Given the description of an element on the screen output the (x, y) to click on. 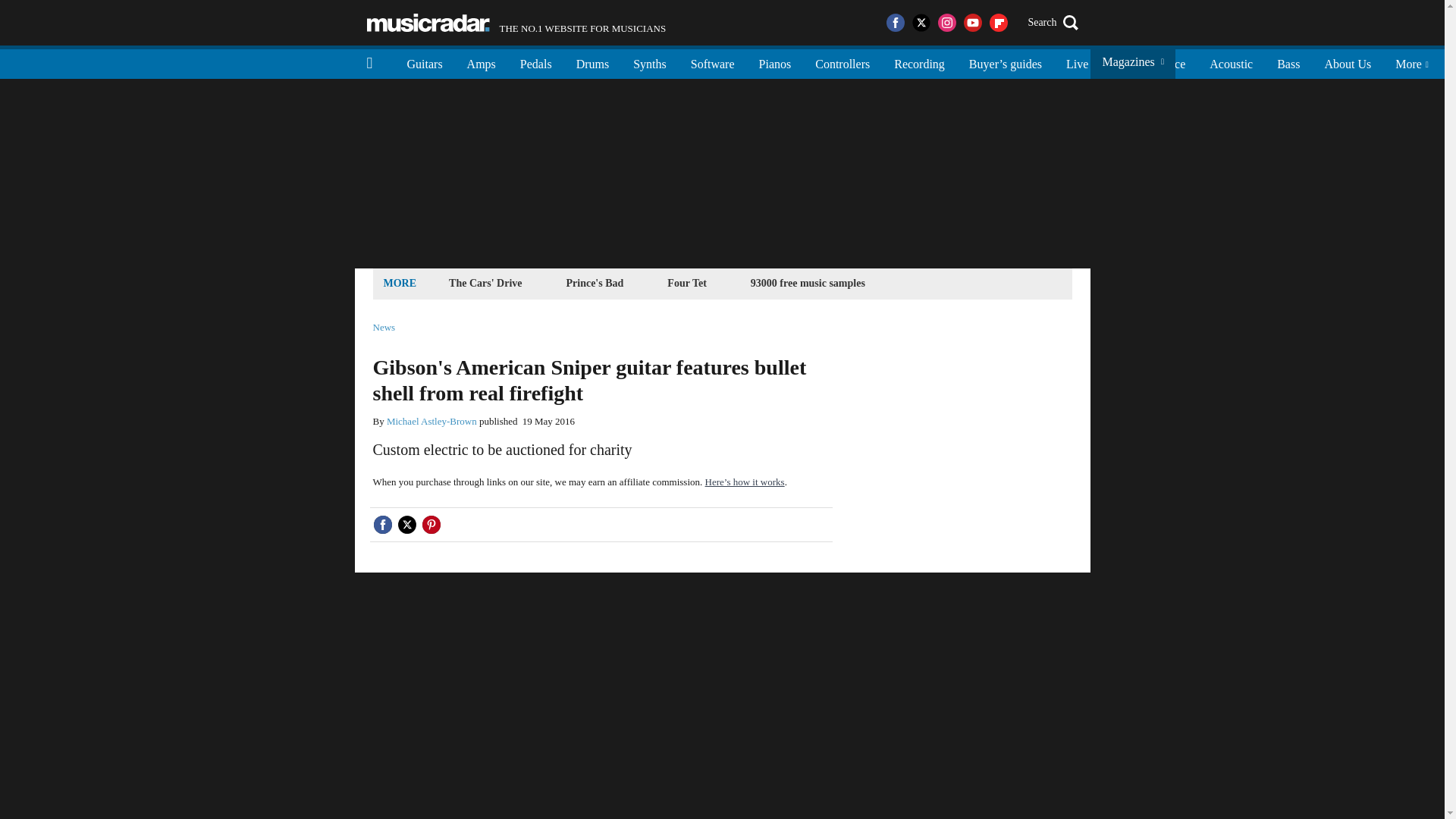
Prince's Bad (594, 282)
Recording (919, 61)
Amps (481, 61)
About Us (1347, 61)
Advice (1167, 61)
Live (1077, 61)
The Cars' Drive (485, 282)
Controllers (842, 61)
Guitars (424, 61)
Pianos (516, 22)
93000 free music samples (774, 61)
DJ (807, 282)
Pedals (1119, 61)
Acoustic (536, 61)
